Given the description of an element on the screen output the (x, y) to click on. 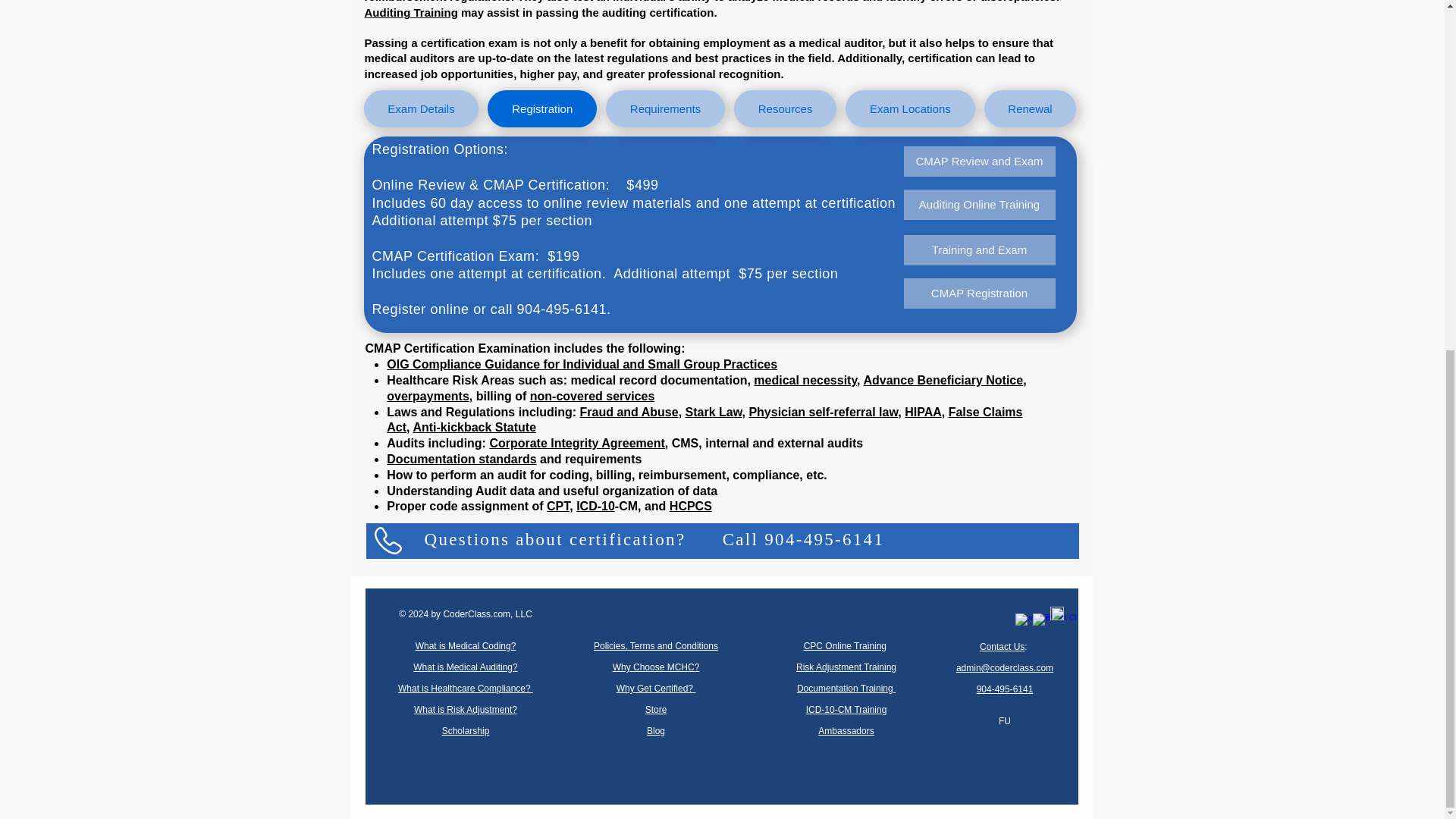
CMAP Review and Exam (979, 161)
Training and Exam (979, 250)
Auditing Training (410, 11)
